Given the description of an element on the screen output the (x, y) to click on. 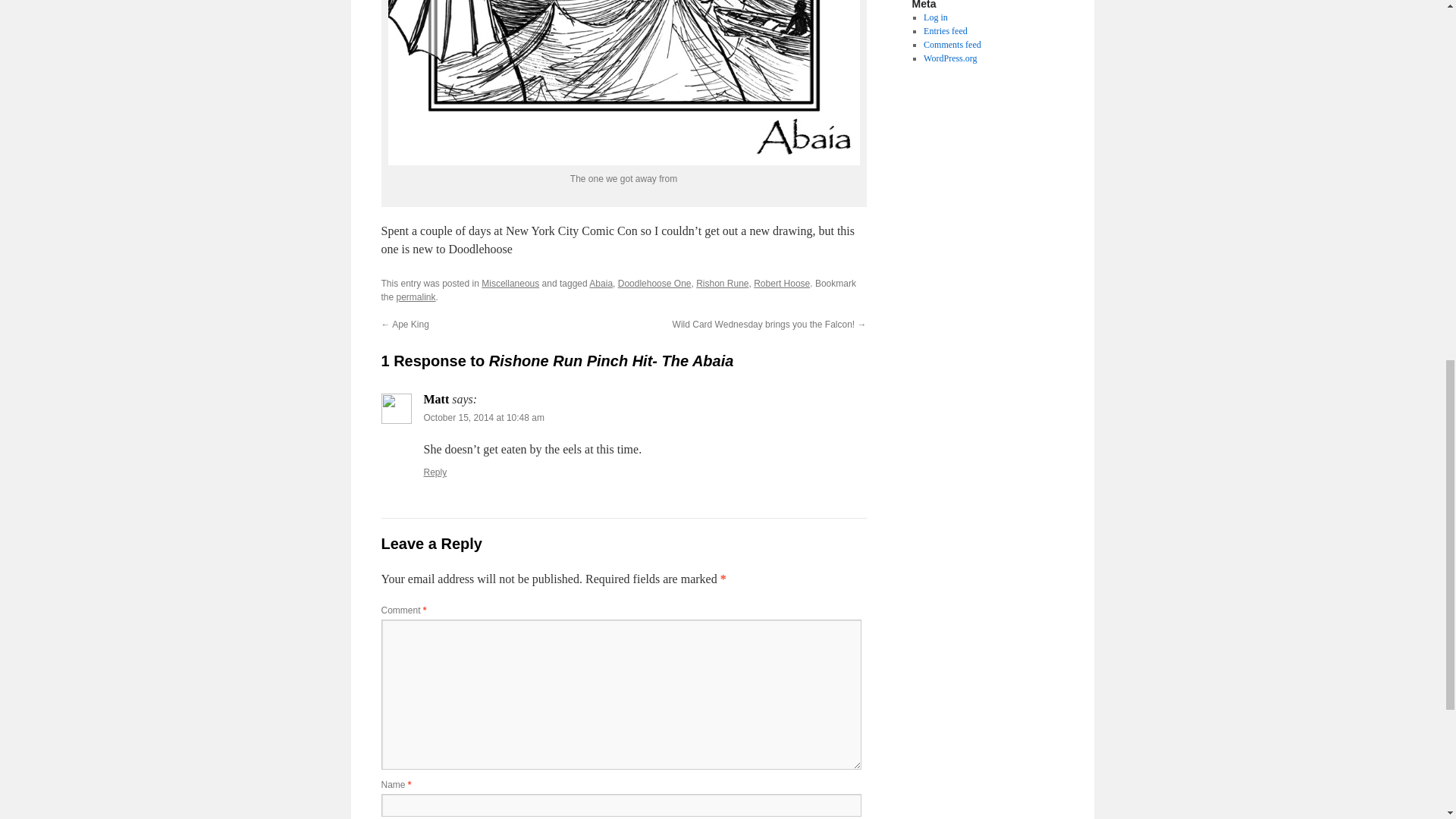
Reply (434, 471)
Rishon Rune (721, 283)
October 15, 2014 at 10:48 am (483, 417)
Permalink to Rishone Run Pinch Hit- The Abaia (415, 296)
Miscellaneous (509, 283)
Doodlehoose One (654, 283)
Abaia (600, 283)
Robert Hoose (781, 283)
permalink (415, 296)
